Given the description of an element on the screen output the (x, y) to click on. 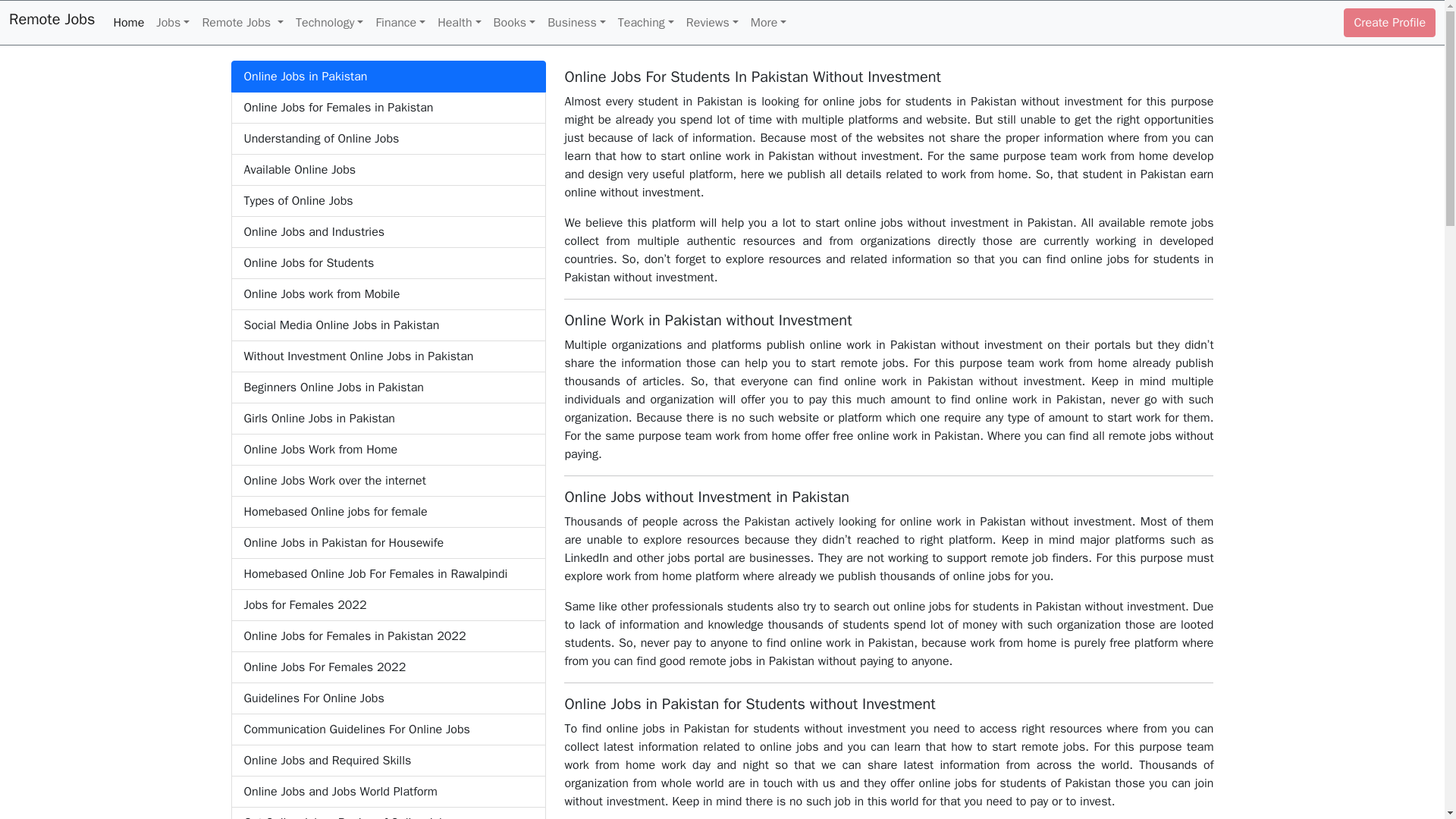
Remote Jobs (51, 22)
Jobs (172, 22)
Home (127, 22)
